Given the description of an element on the screen output the (x, y) to click on. 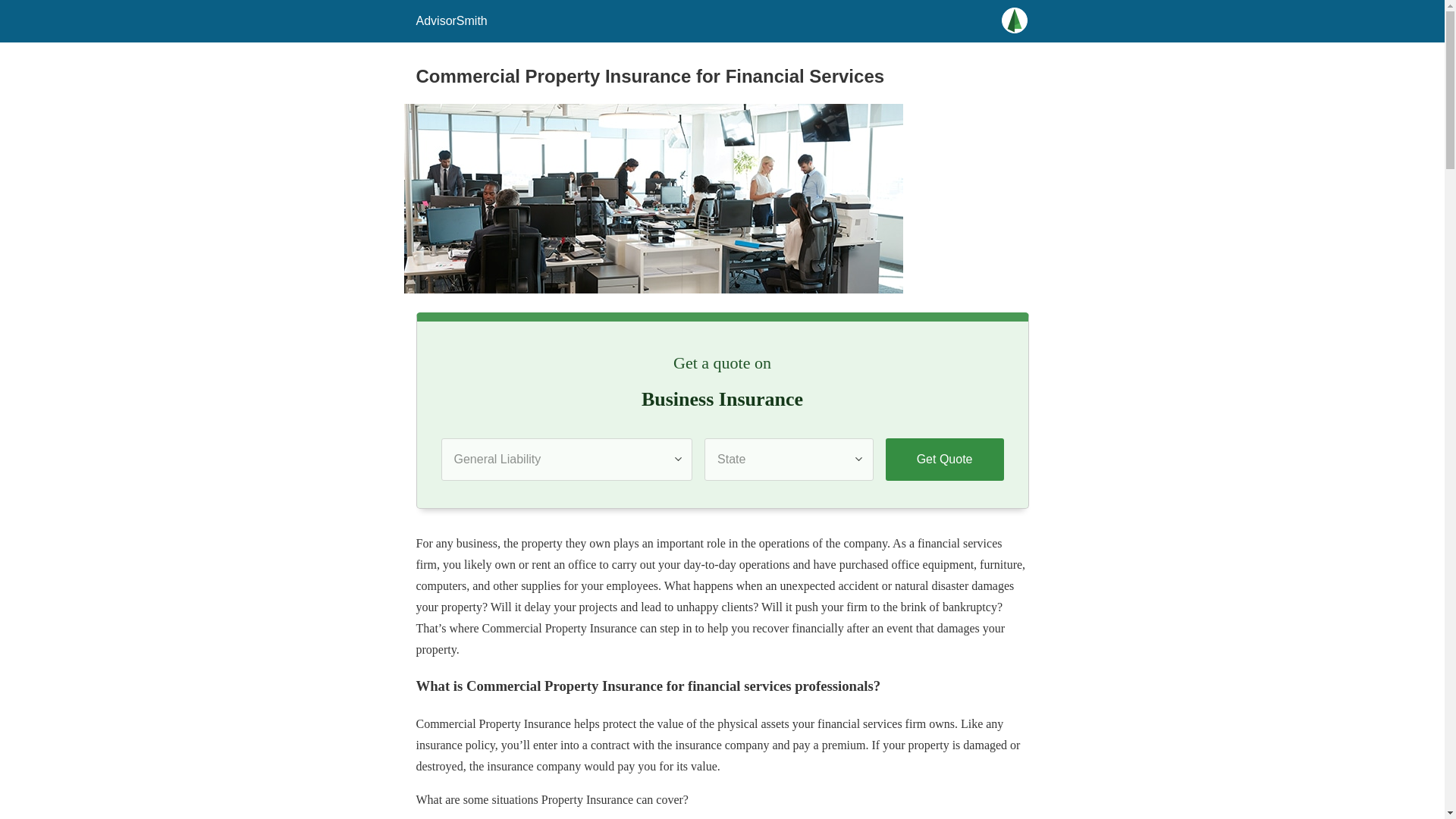
AdvisorSmith (450, 20)
Get Quote (944, 459)
Get Quote (944, 459)
